Given the description of an element on the screen output the (x, y) to click on. 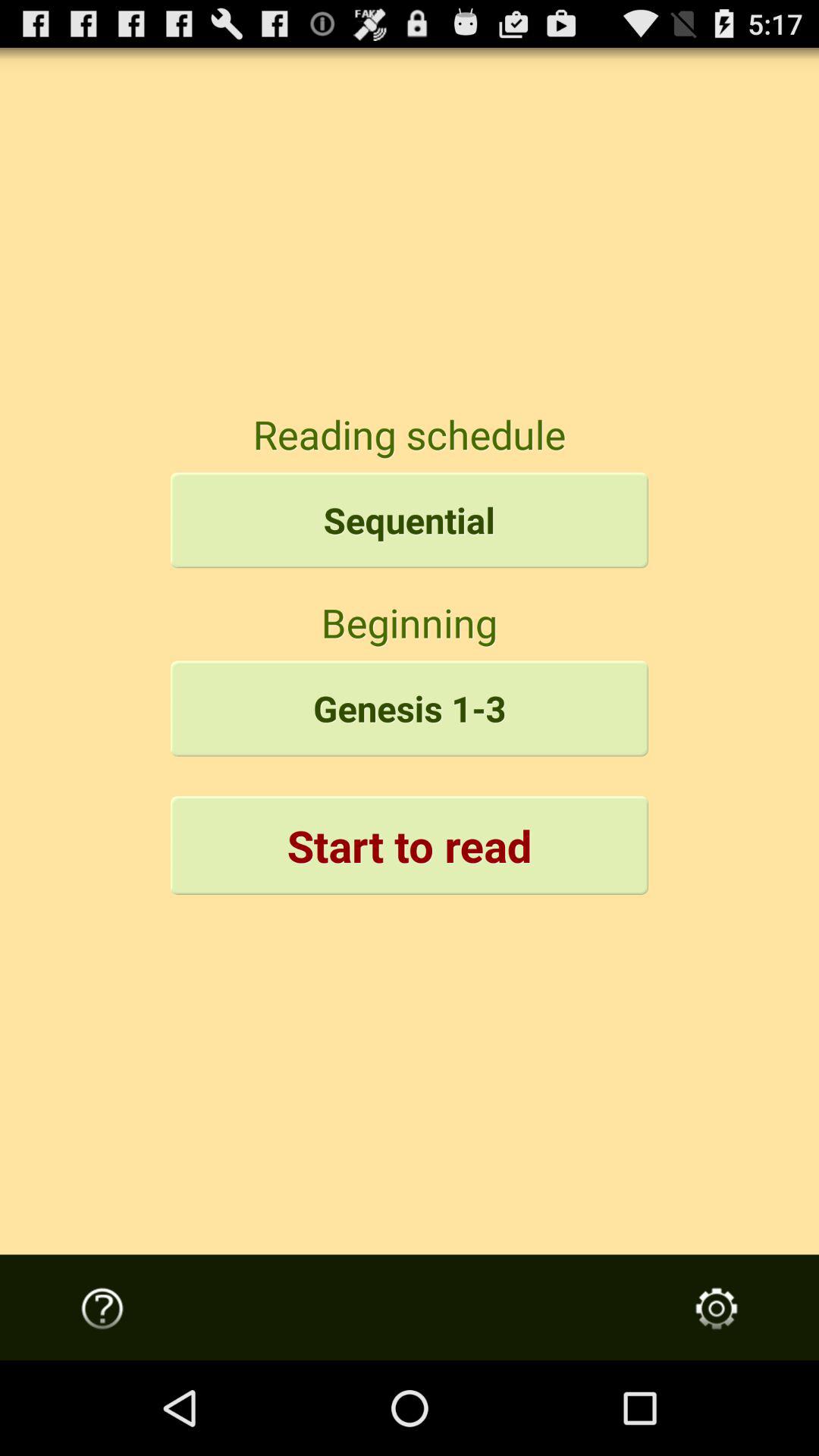
launch button below genesis 1-3 icon (409, 845)
